Given the description of an element on the screen output the (x, y) to click on. 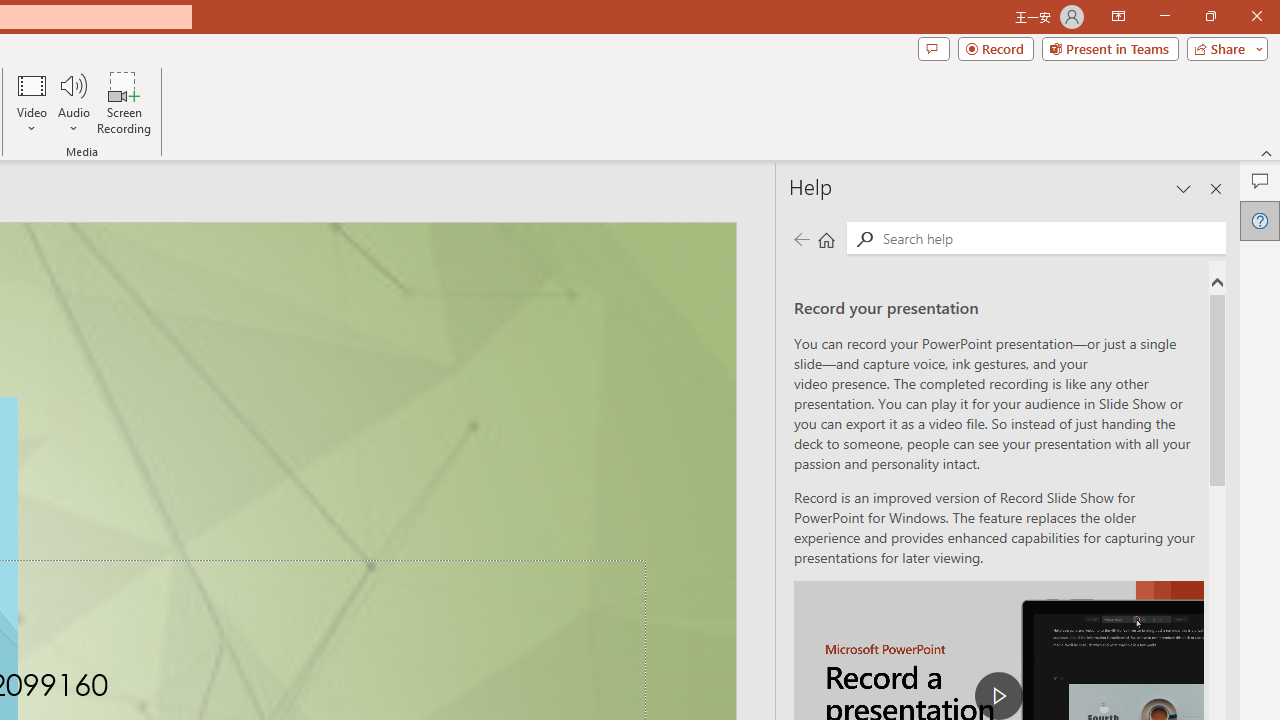
Audio (73, 102)
Video (31, 102)
